Given the description of an element on the screen output the (x, y) to click on. 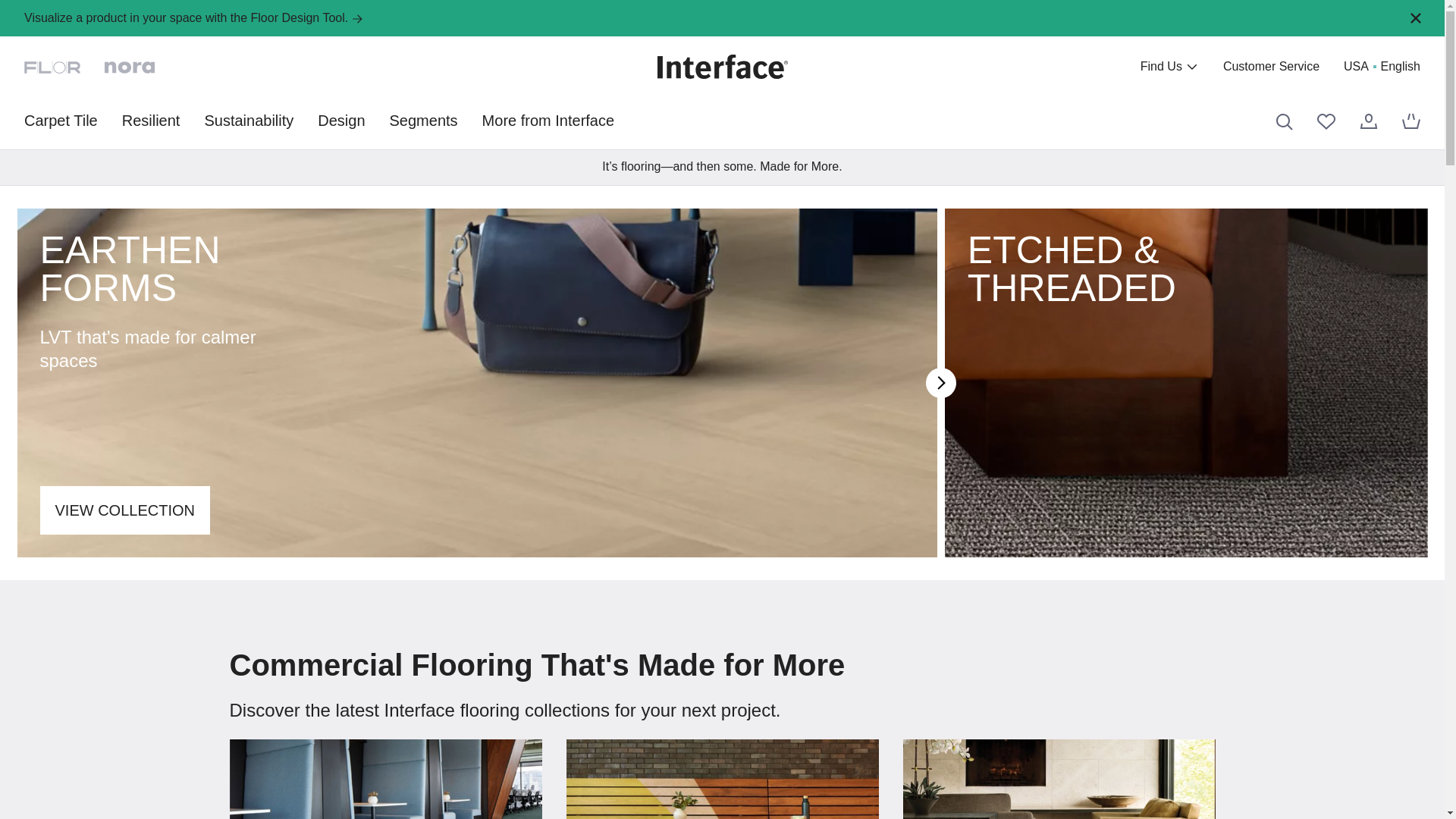
USA English (1382, 66)
Home page (721, 66)
Find Us (1169, 66)
nora.com (129, 65)
Carpet Tile (60, 119)
Flor.com (52, 65)
Customer Service (1271, 66)
